Given the description of an element on the screen output the (x, y) to click on. 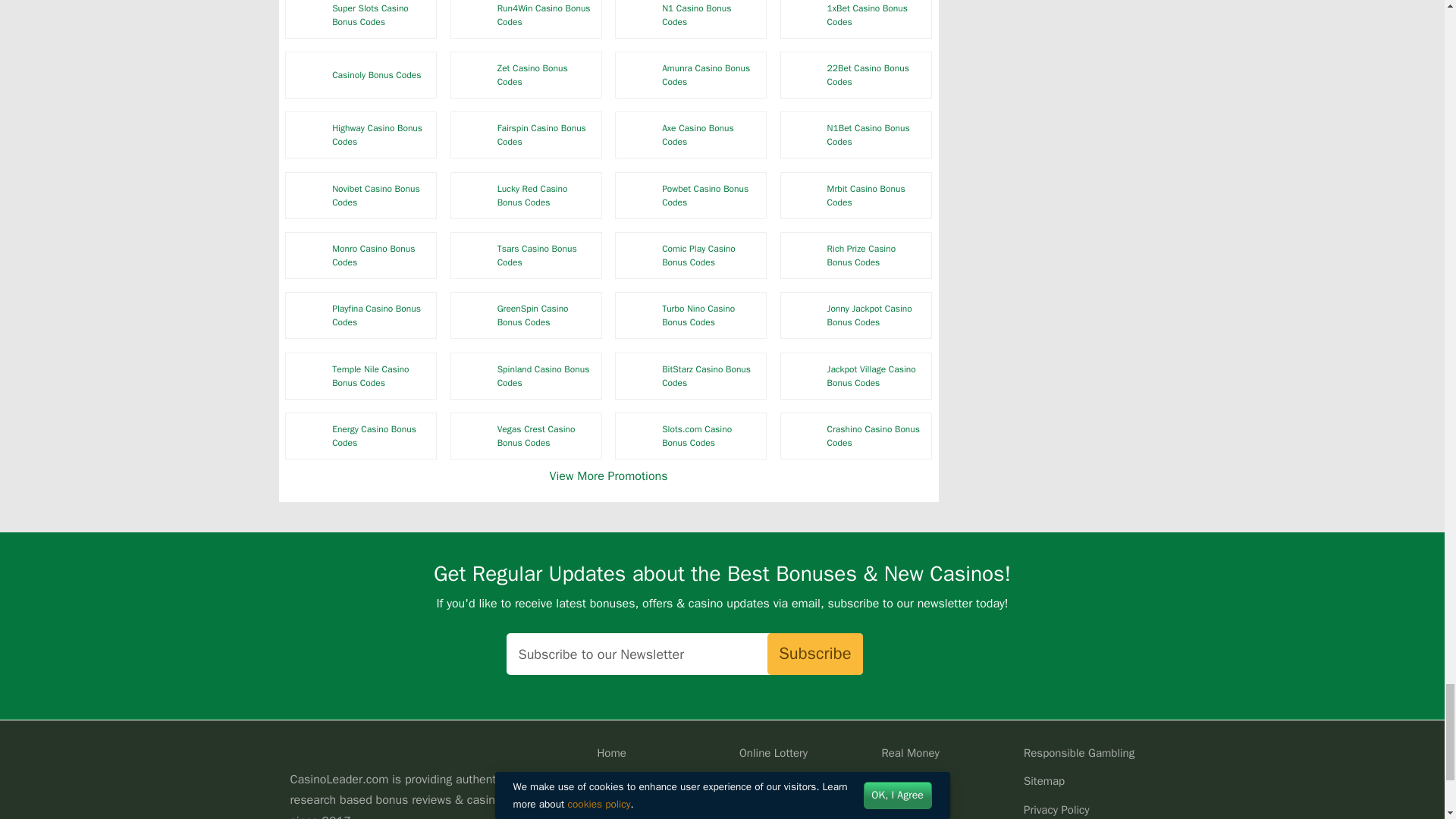
Super Slots Casino (308, 17)
Run4Win Casino (473, 17)
Fairspin Casino (473, 134)
Novibet Casino (308, 195)
Highway Casino (308, 134)
Casinoly (308, 75)
1xBet Casino (803, 17)
N1 Casino (639, 17)
Zet Casino (473, 75)
Axe Casino (639, 134)
22Bet Casino (803, 75)
Lucky Red Casino (473, 195)
Amunra Casino (639, 75)
N1Bet Casino (803, 134)
